Given the description of an element on the screen output the (x, y) to click on. 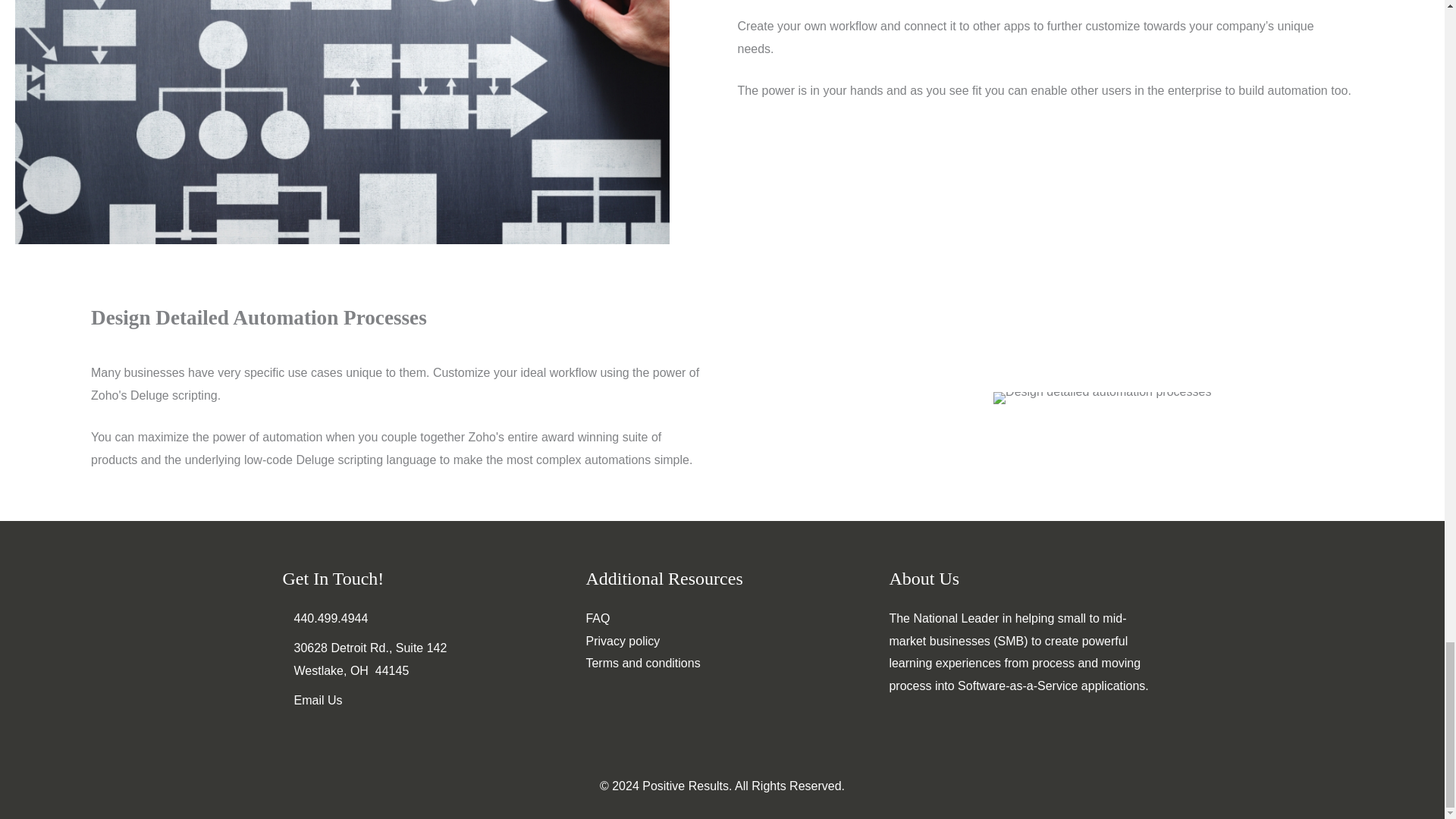
Email Us (318, 699)
Privacy policy (622, 640)
440.499.4944 (331, 617)
Design detailed automation processes (1101, 398)
Terms and conditions (642, 662)
FAQ (597, 617)
